Given the description of an element on the screen output the (x, y) to click on. 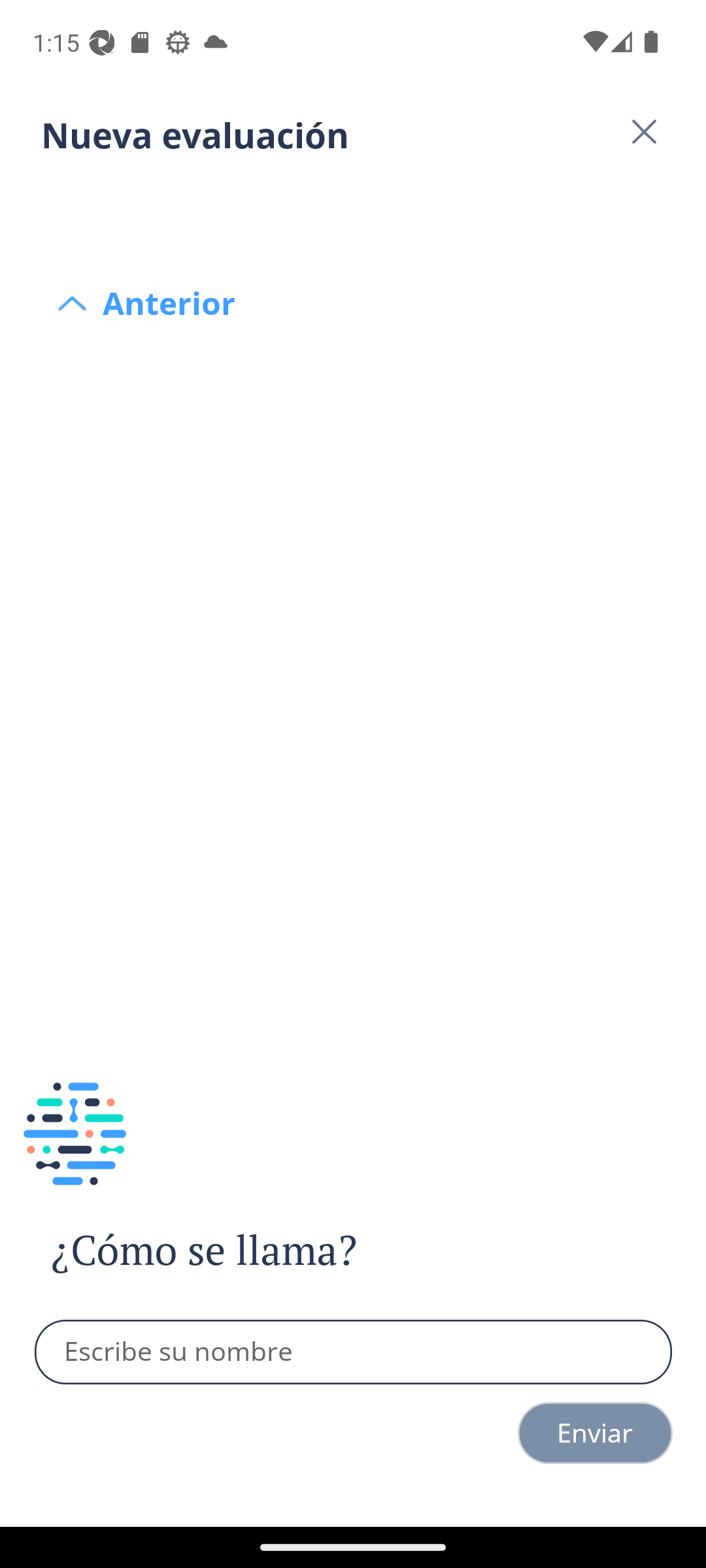
undo Anterior (353, 203)
¿Cómo se llama? (240, 1250)
Escribe su nombre (353, 1352)
Enviar (594, 1432)
